Given the description of an element on the screen output the (x, y) to click on. 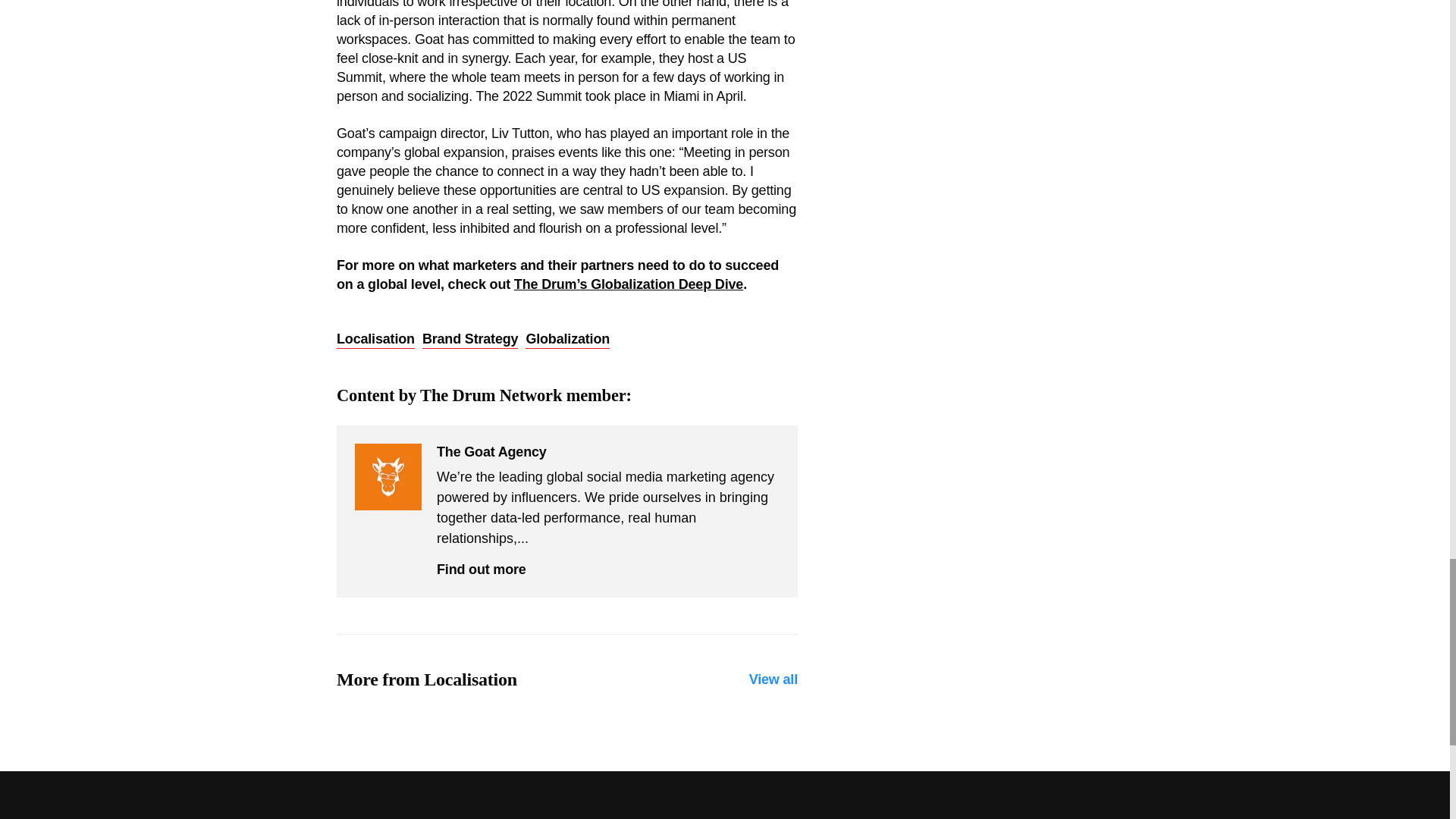
Find out more (480, 569)
Brand Strategy (470, 339)
Localisation (375, 339)
View all (773, 679)
Globalization (567, 339)
